Given the description of an element on the screen output the (x, y) to click on. 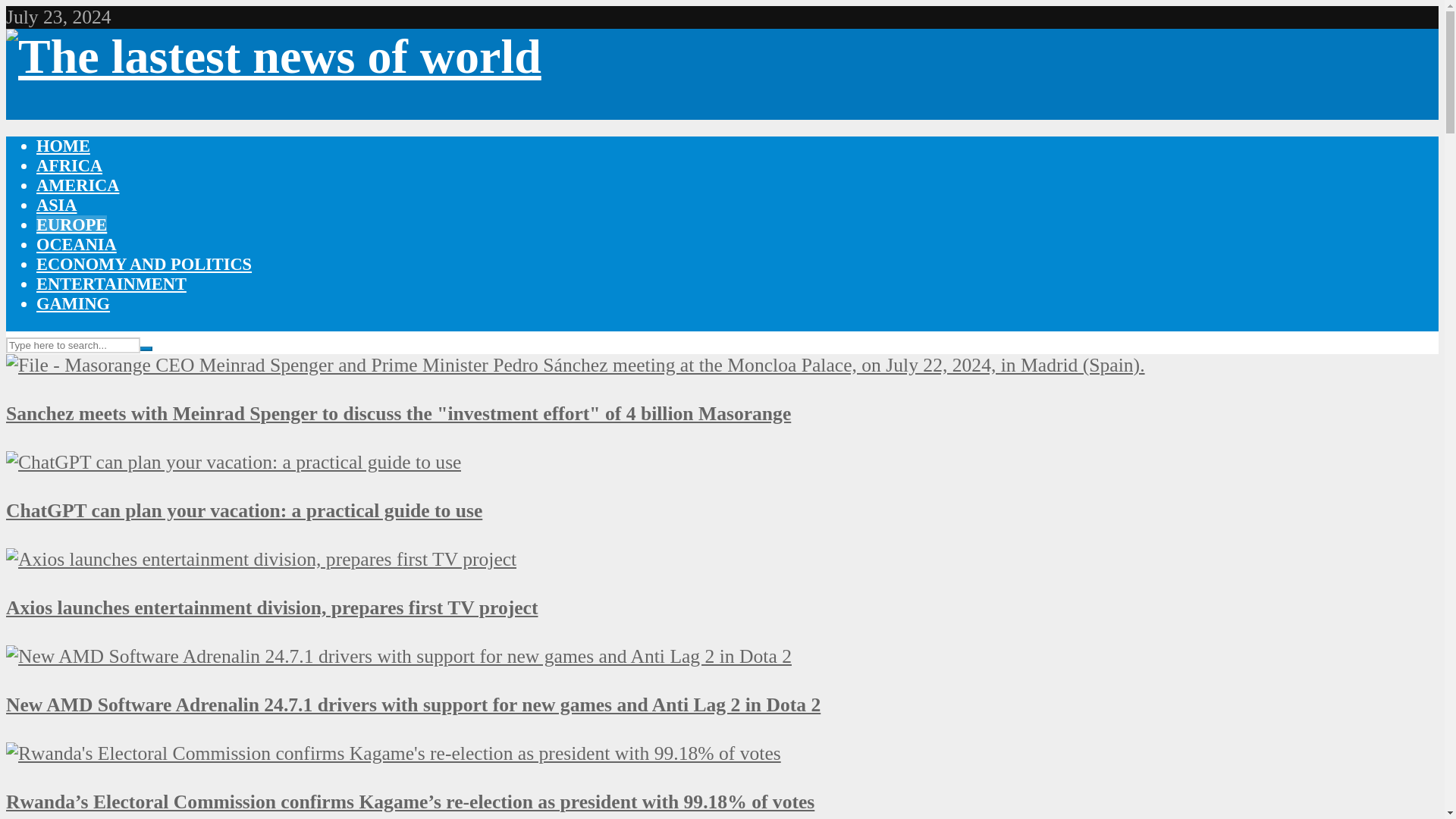
AFRICA (68, 165)
ChatGPT can plan your vacation: a practical guide to use (243, 510)
OCEANIA (76, 244)
ASIA (56, 204)
ECONOMY AND POLITICS (143, 263)
GAMING (73, 303)
HOME (63, 145)
AMERICA (77, 185)
ChatGPT can plan your vacation: a practical guide to use (233, 462)
EUROPE (71, 224)
ENTERTAINMENT (111, 283)
